Given the description of an element on the screen output the (x, y) to click on. 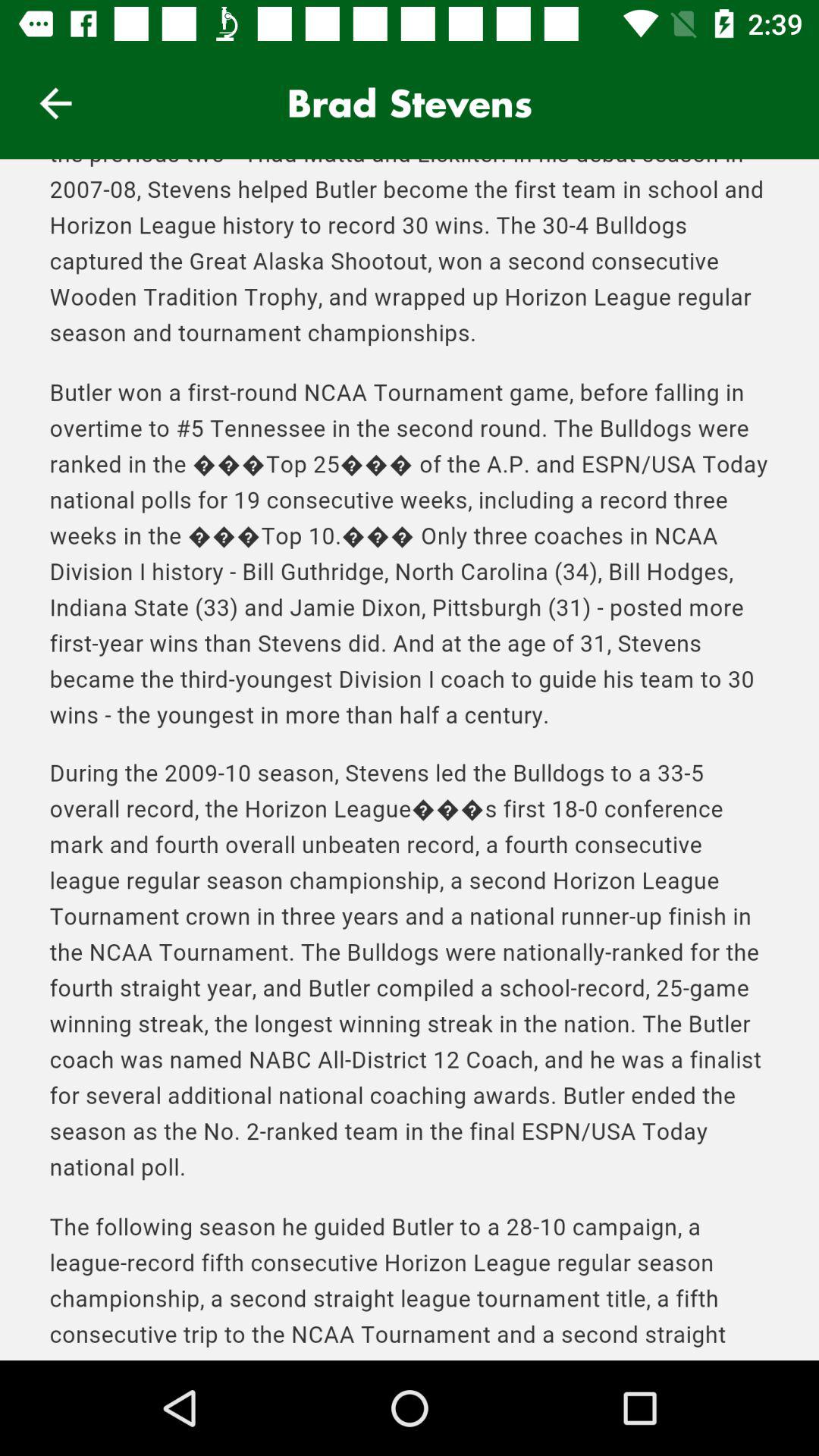
share the article (409, 759)
